Given the description of an element on the screen output the (x, y) to click on. 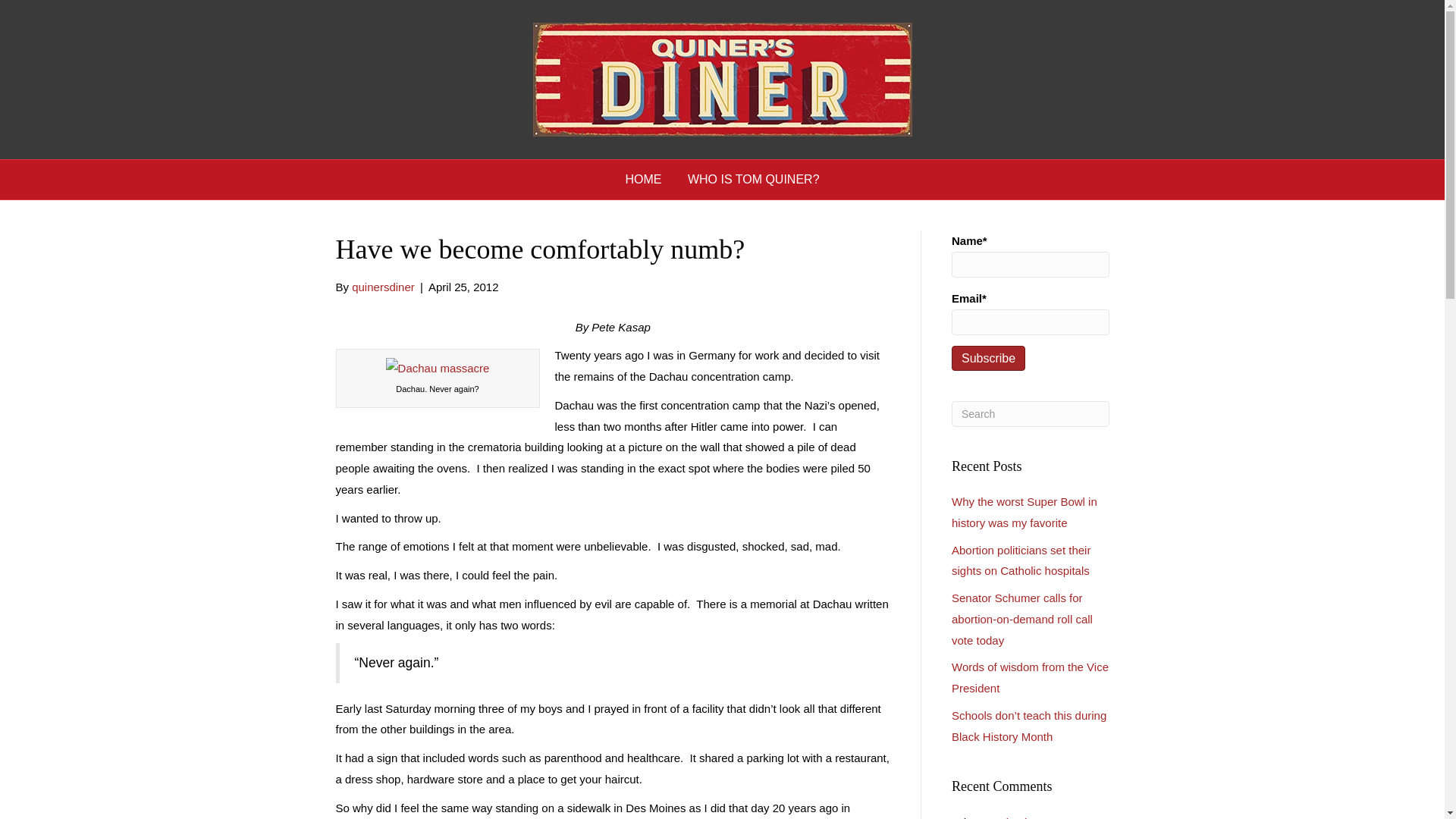
Subscribe (988, 358)
Abortion politicians set their sights on Catholic hospitals (1021, 560)
WHO IS TOM QUINER? (754, 179)
Words of wisdom from the Vice President (1030, 677)
Why the worst Super Bowl in history was my favorite (1029, 817)
Subscribe (988, 358)
images-1 (437, 368)
HOME (642, 179)
Why the worst Super Bowl in history was my favorite (1024, 512)
